Given the description of an element on the screen output the (x, y) to click on. 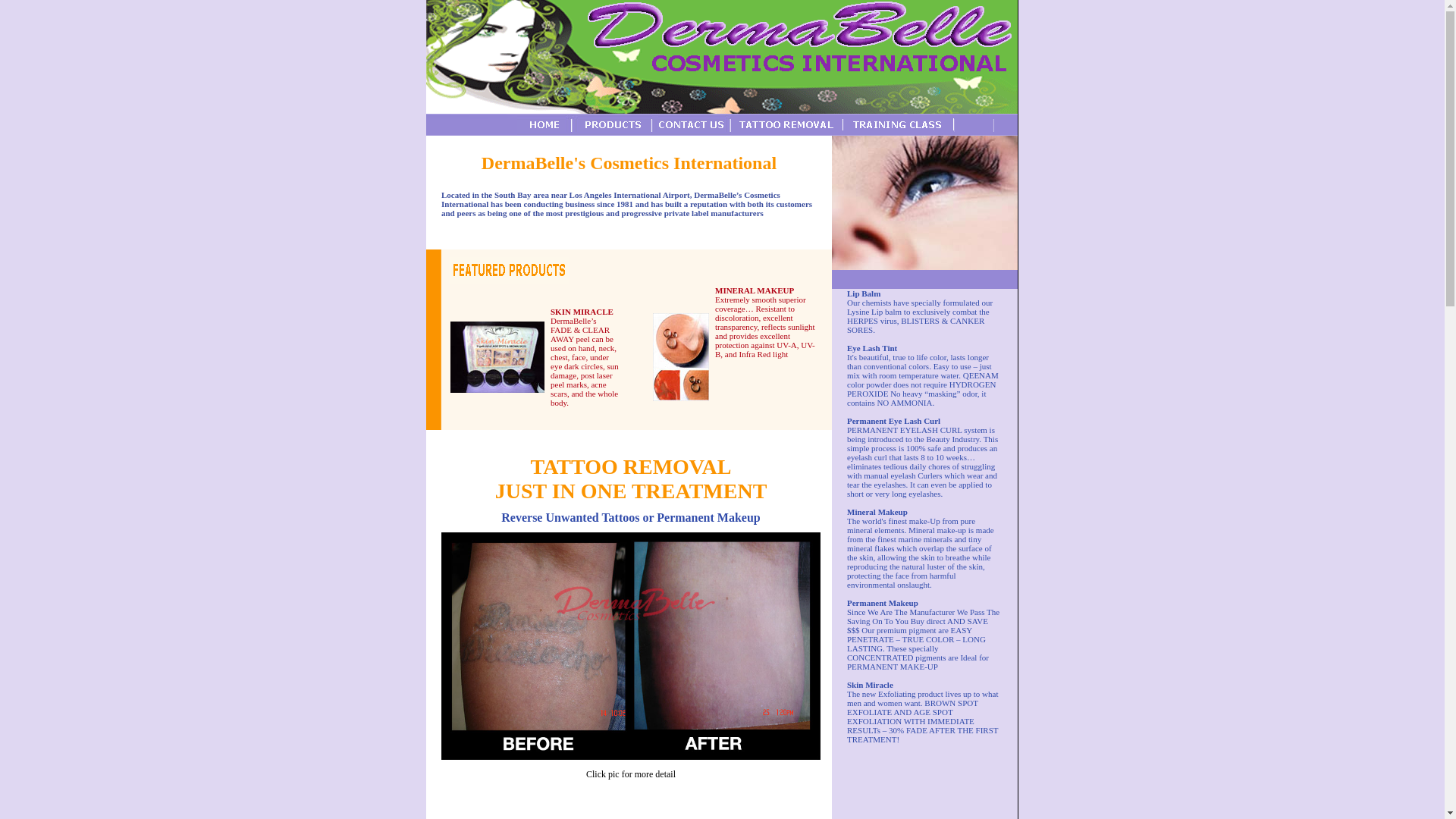
Skin Miracle (870, 684)
Permanent Eye Lash Curl (893, 420)
Permanent Makeup (882, 607)
Mineral Makeup (877, 515)
Eye Lash Tint (871, 347)
Reverse Unwanted Tattoos or Permanent Makeup (630, 517)
Lip Balm (863, 293)
